Given the description of an element on the screen output the (x, y) to click on. 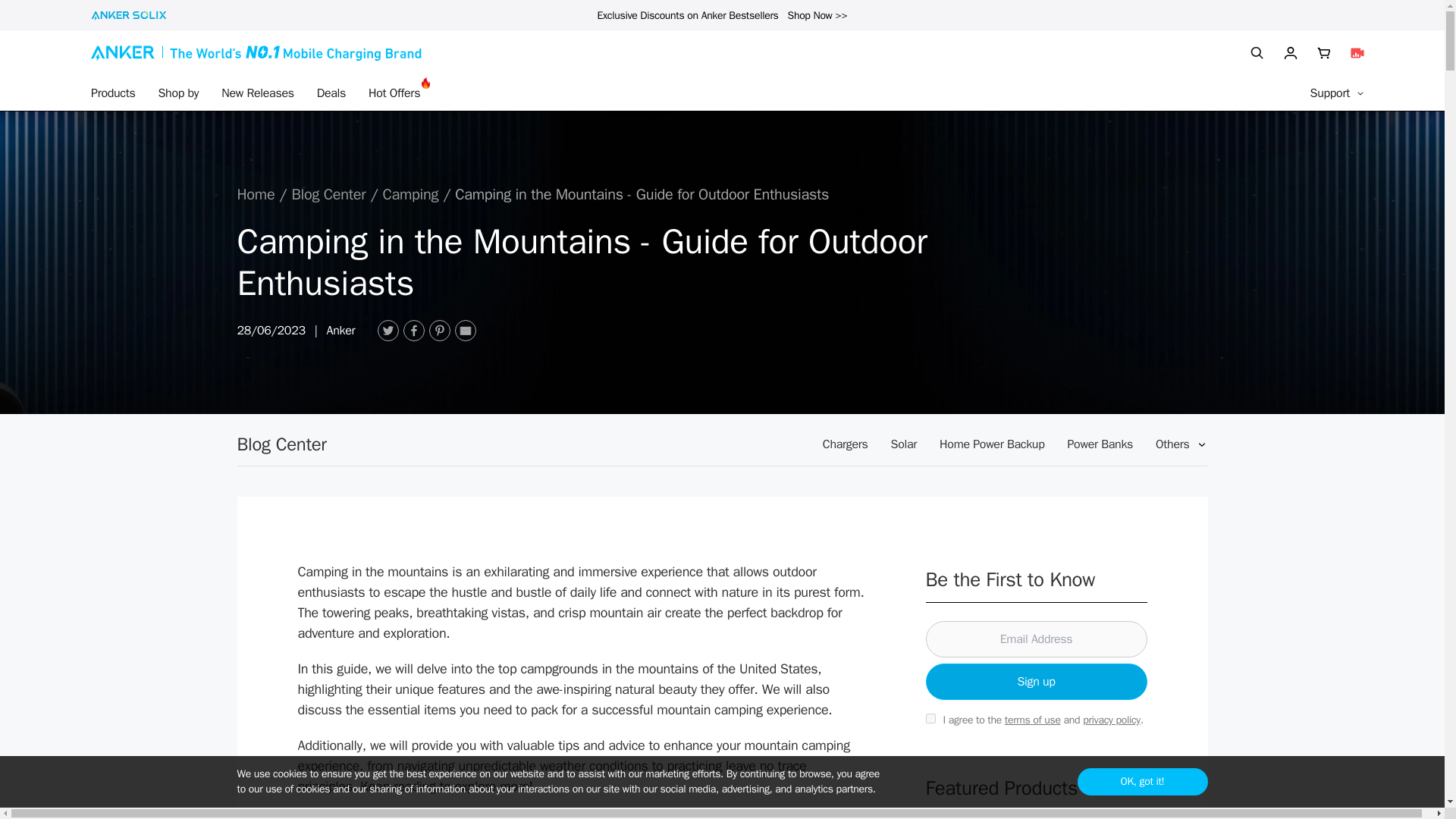
Support (1337, 93)
Chargers (844, 444)
Share this on Pinterest (439, 330)
on (929, 718)
Blog Center (280, 444)
Share this on Facebook (414, 330)
Share this on Twitter (387, 330)
Shop by (177, 93)
Home (255, 194)
Power Banks (1099, 444)
Camping (409, 194)
New Releases (257, 93)
Email this to a friend (465, 330)
Home Power Backup (991, 444)
Blog Center (328, 194)
